Given the description of an element on the screen output the (x, y) to click on. 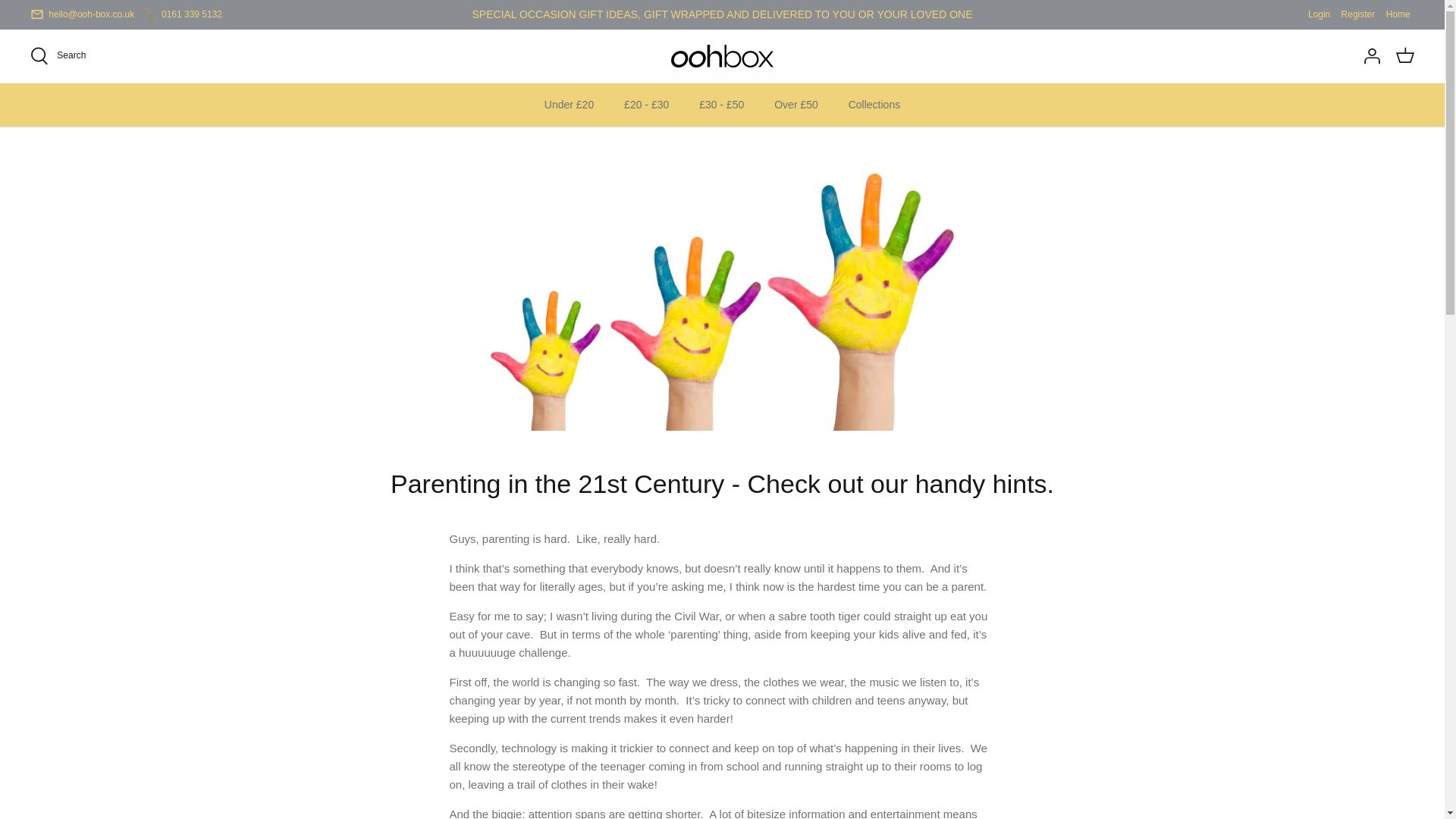
Home (1398, 14)
Register (1357, 14)
Login (1318, 14)
0161 339 5132 (191, 14)
Search (57, 55)
Collections (874, 104)
oohbox (722, 56)
